Given the description of an element on the screen output the (x, y) to click on. 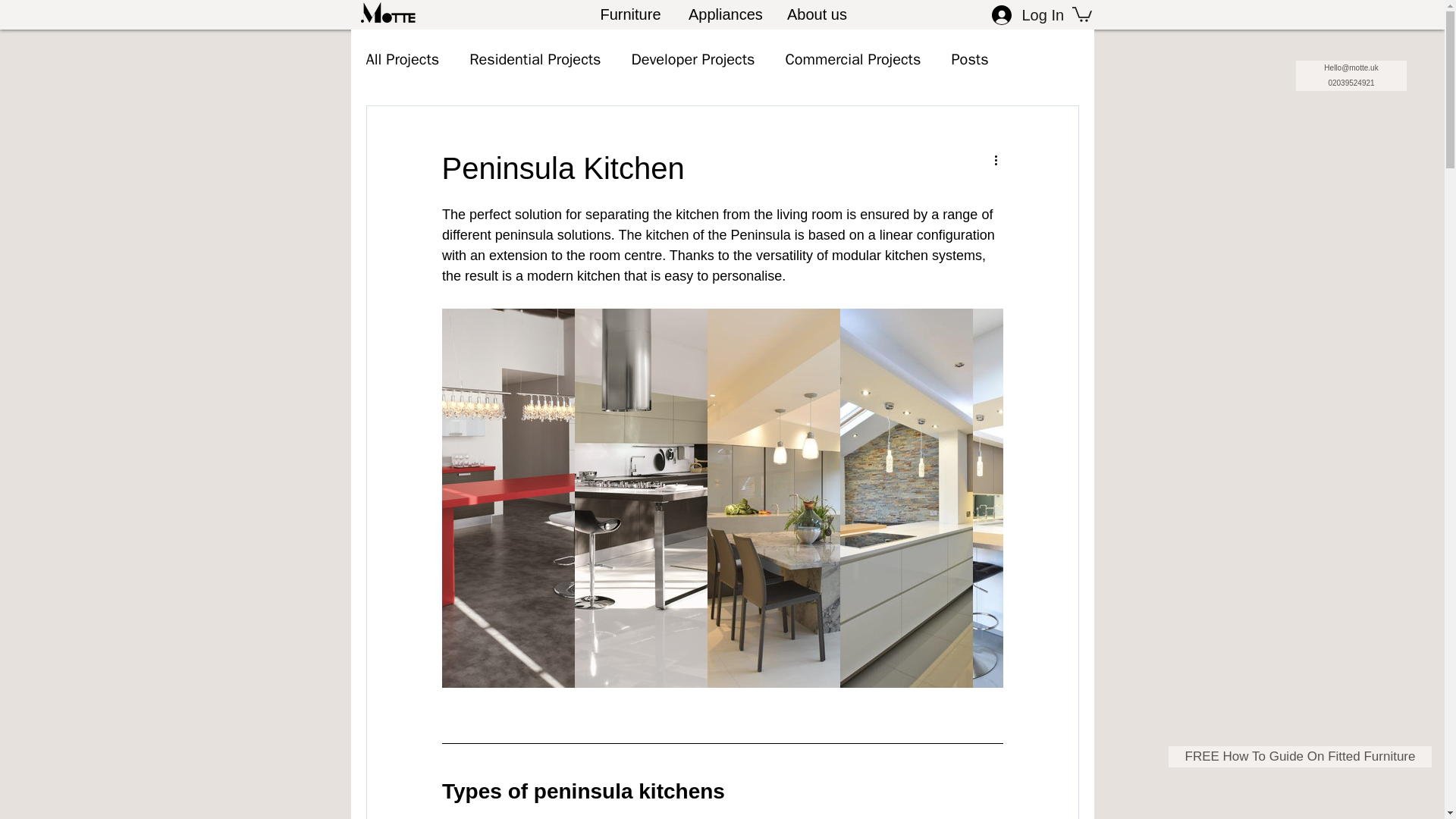
Appliances (724, 7)
Posts (969, 59)
Furniture (630, 7)
All Projects (402, 59)
02039524921 (1350, 83)
Commercial Projects (852, 59)
FREE How To Guide On Fitted Furniture (1300, 756)
About us (816, 7)
Developer Projects (692, 59)
Log In (1026, 15)
